Given the description of an element on the screen output the (x, y) to click on. 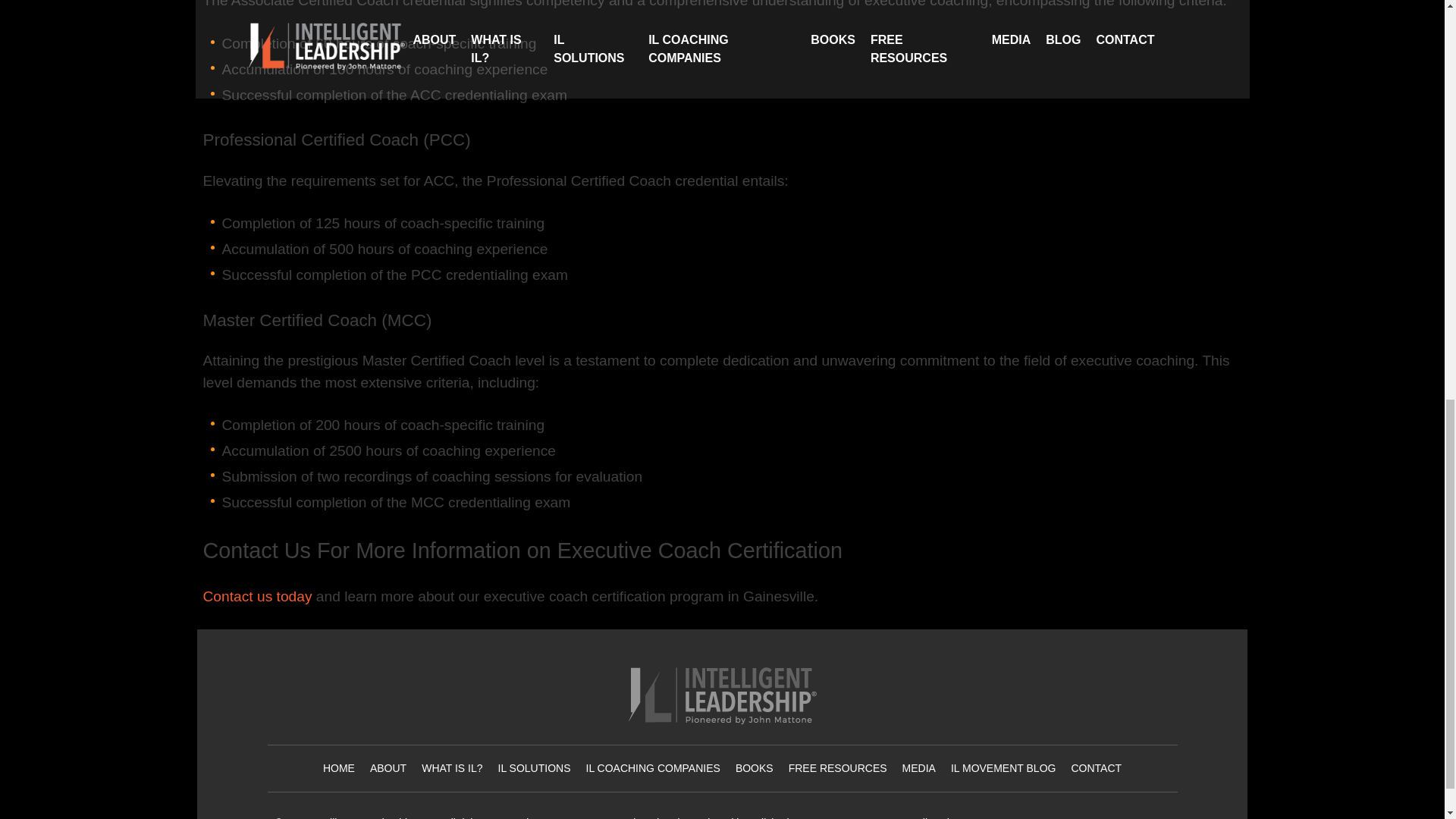
BOOKS (754, 767)
HOME (339, 767)
ABOUT (387, 767)
IL SOLUTIONS (533, 767)
IL COACHING COMPANIES (653, 767)
FREE RESOURCES (837, 767)
Contact us today (258, 596)
MEDIA (919, 767)
Designed and Developed by: Click Elements (719, 817)
IL MOVEMENT BLOG (1002, 767)
